Given the description of an element on the screen output the (x, y) to click on. 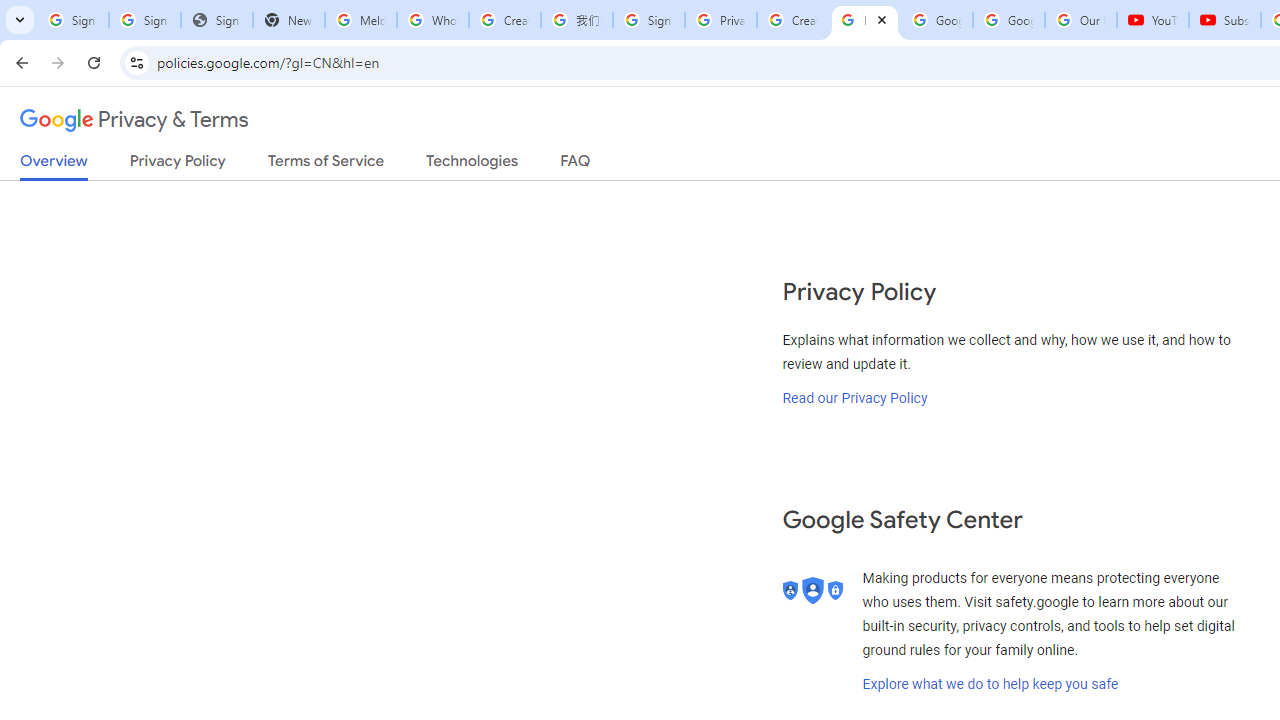
Create your Google Account (504, 20)
Sign in - Google Accounts (72, 20)
